Given the description of an element on the screen output the (x, y) to click on. 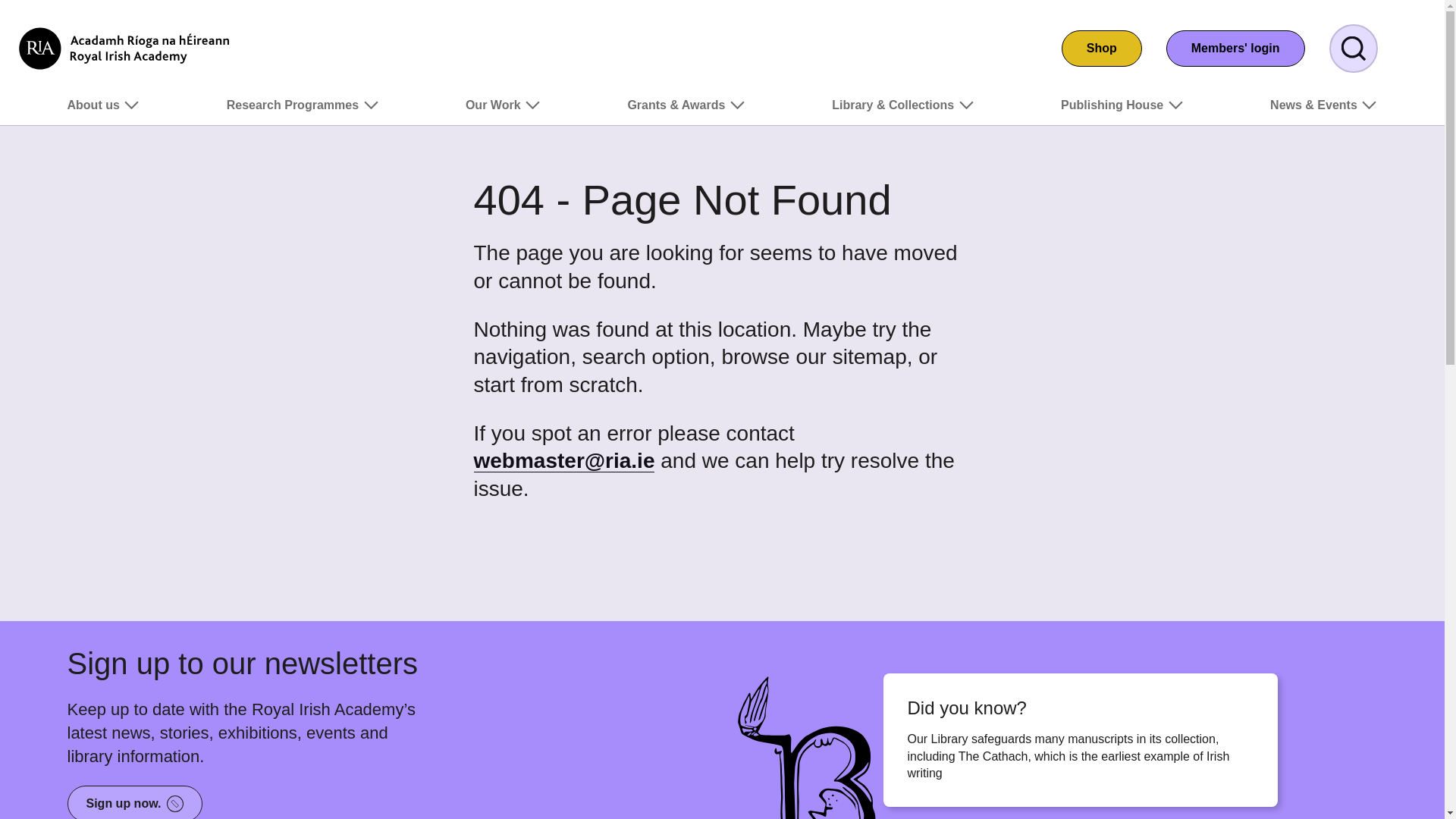
Research Programmes (302, 111)
Shop (1101, 48)
About us (102, 111)
Royal Irish Academy (124, 48)
Members' login (1235, 48)
Search (1352, 48)
